Given the description of an element on the screen output the (x, y) to click on. 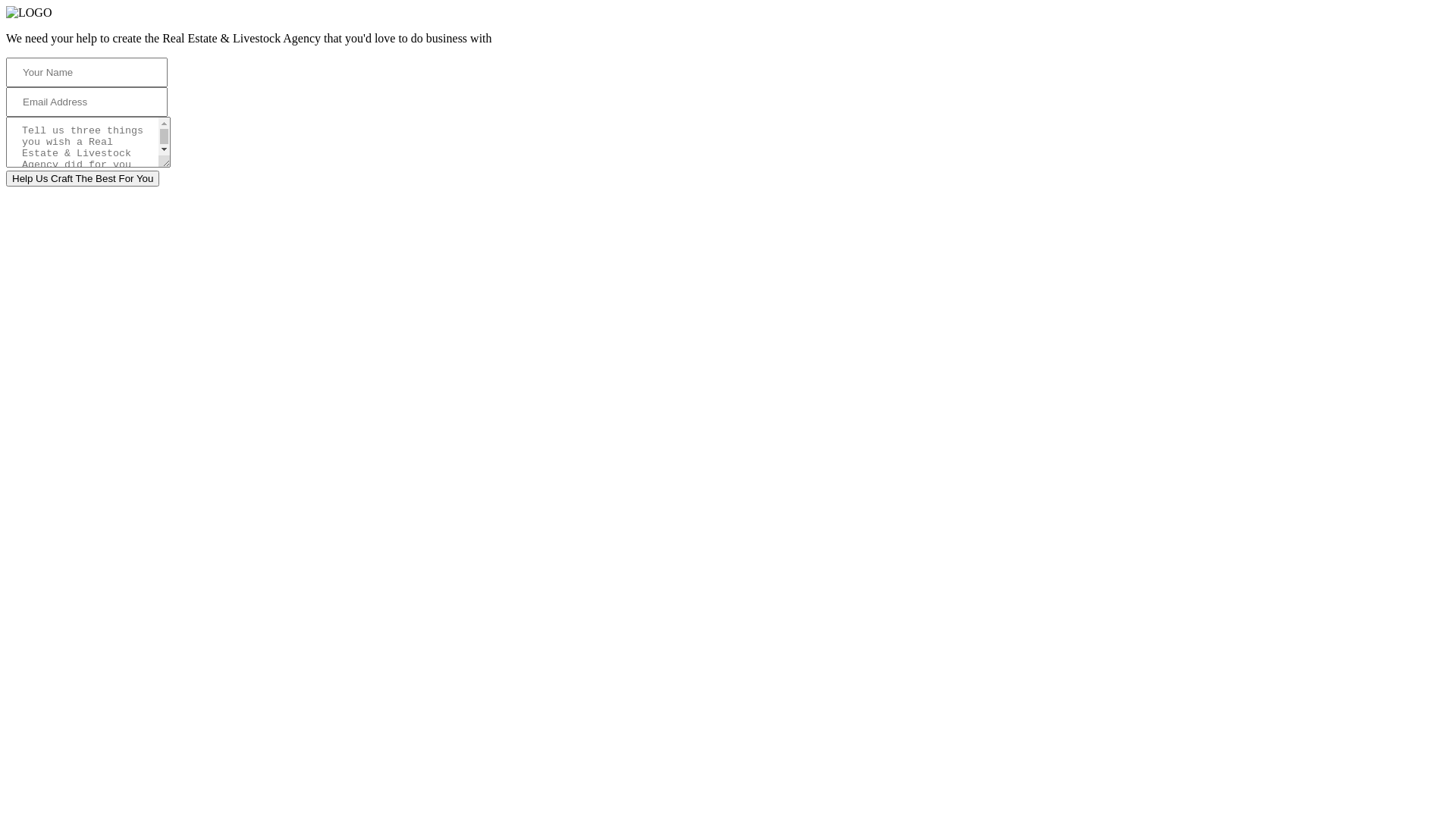
Help Us Craft The Best For You Element type: text (82, 178)
